Given the description of an element on the screen output the (x, y) to click on. 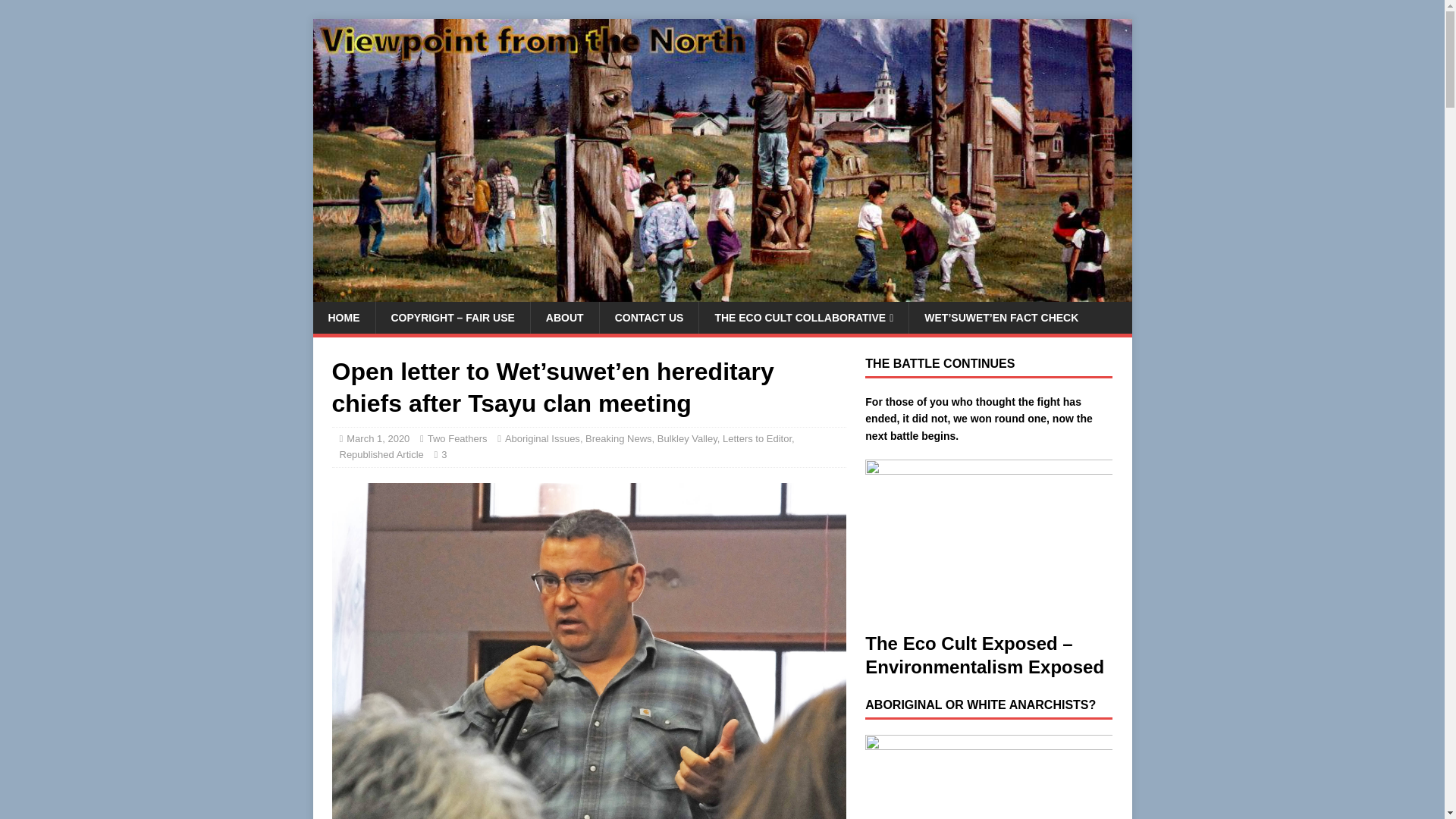
HOME (343, 317)
Republished Article (381, 454)
Bulkley Valley (687, 438)
Two Feathers (457, 438)
THE ECO CULT COLLABORATIVE (803, 317)
Breaking News (617, 438)
March 1, 2020 (377, 438)
Letters to Editor (757, 438)
Aboriginal Issues (542, 438)
